Given the description of an element on the screen output the (x, y) to click on. 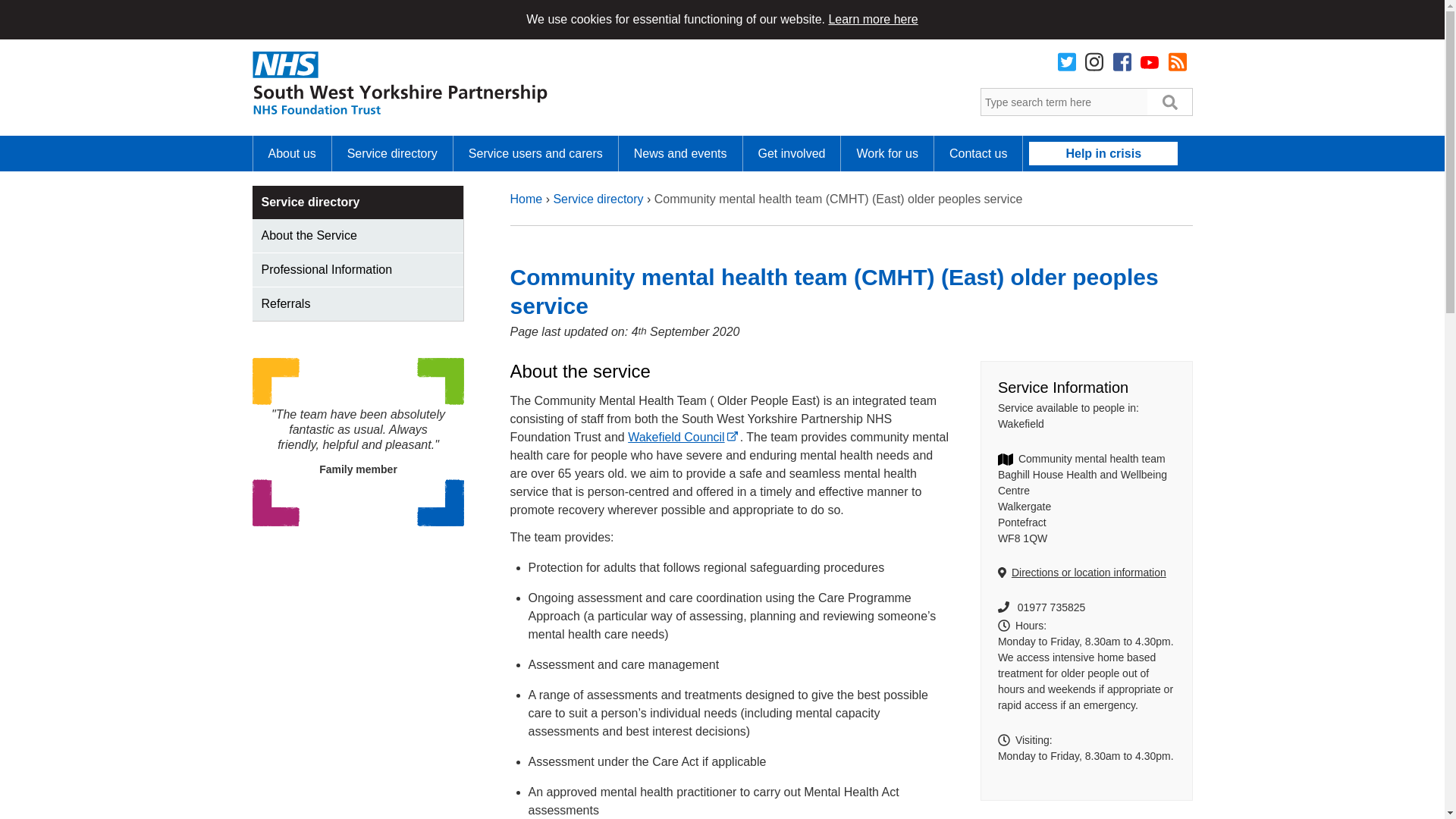
South West Yorkshire Partnership NHS Foundation Trust (399, 84)
About us (292, 153)
Search Submit (1170, 101)
Return to homepage (399, 84)
Learn more here (872, 19)
External link (732, 433)
